Given the description of an element on the screen output the (x, y) to click on. 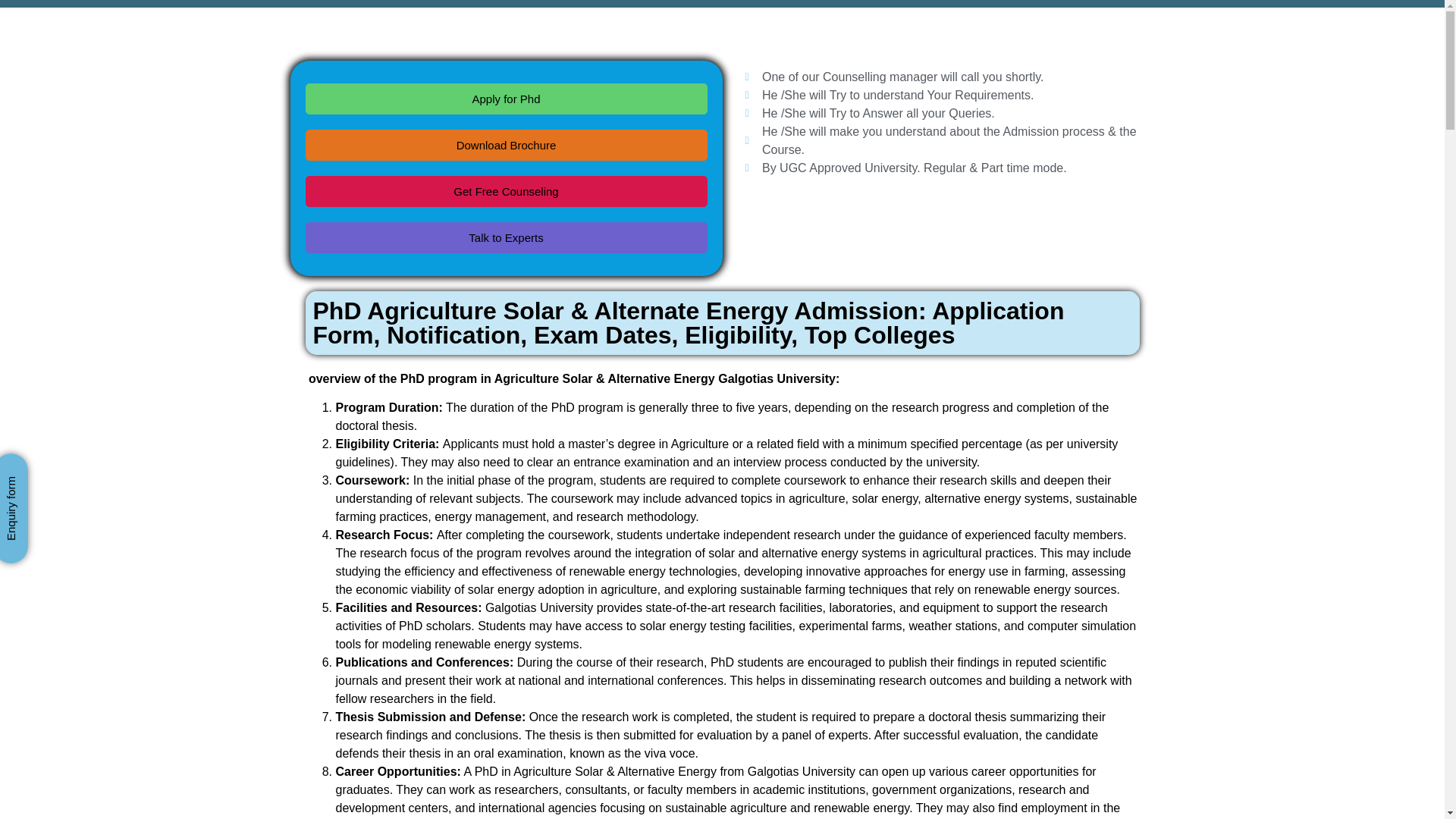
Enquiry form (51, 470)
Apply for Phd (505, 98)
Talk to Experts (505, 237)
Get Free Counseling (505, 191)
Download Brochure (505, 144)
